Given the description of an element on the screen output the (x, y) to click on. 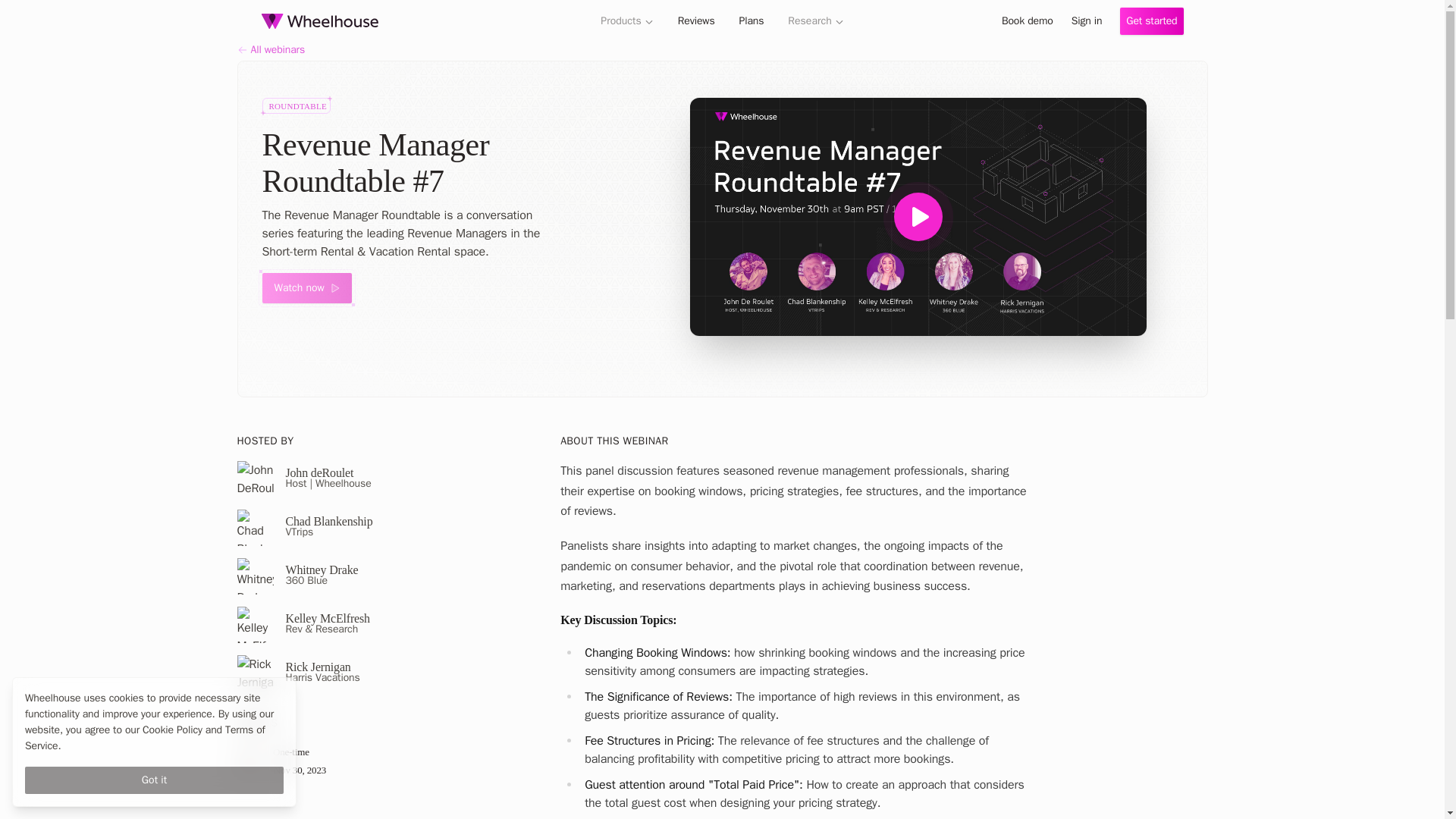
Reviews (695, 20)
Get started (1150, 21)
All webinars (721, 49)
Book demo (1026, 20)
Sign in (1086, 21)
Research (816, 20)
Watch now (307, 287)
Plans (751, 20)
Products (626, 20)
